Given the description of an element on the screen output the (x, y) to click on. 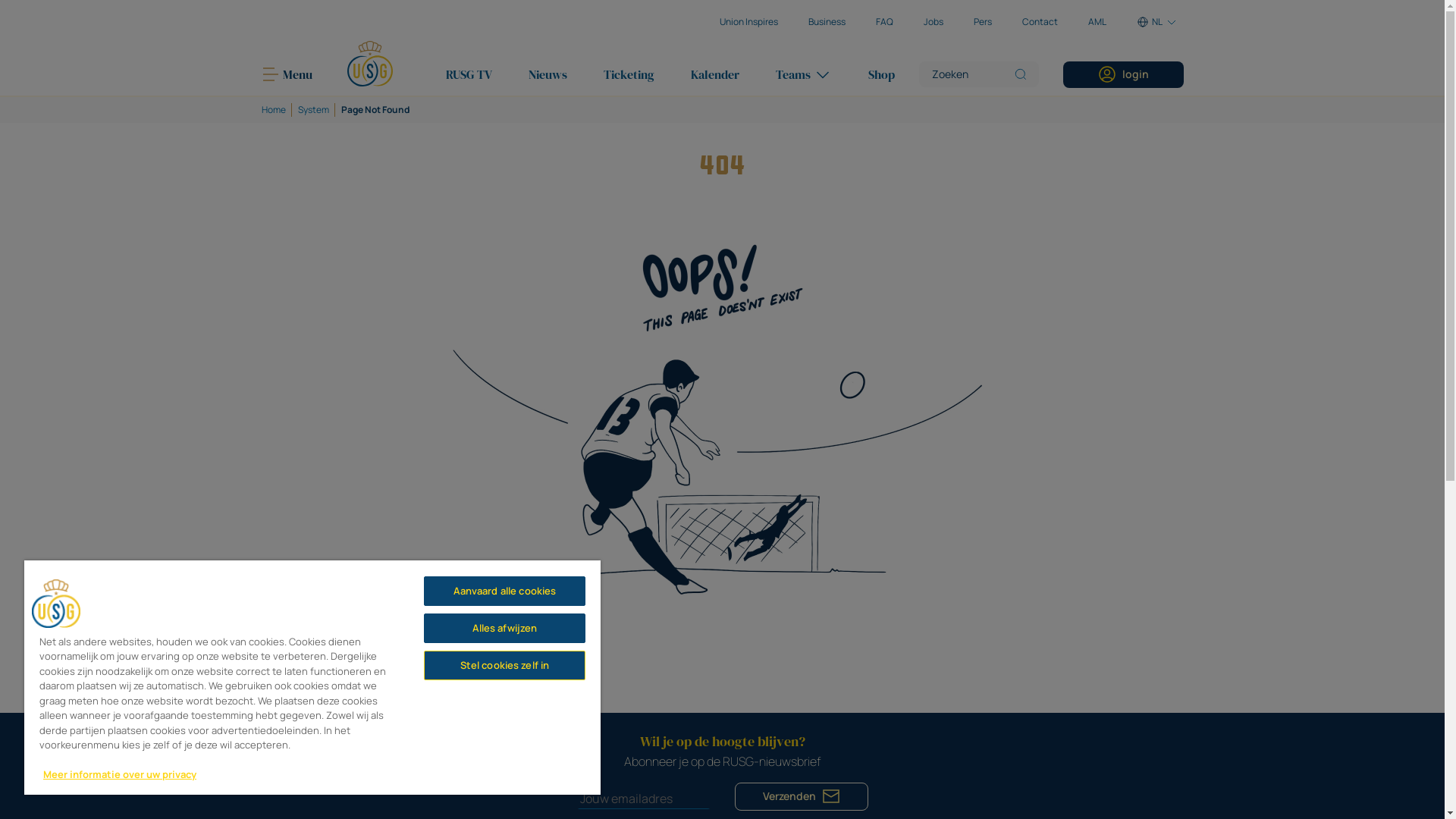
Page Not Found Element type: text (375, 109)
Alles afwijzen Element type: text (504, 628)
Kalender Element type: text (713, 74)
Verzenden Element type: text (800, 796)
Jobs Element type: text (933, 21)
Nieuws Element type: text (546, 74)
Meer informatie over uw privacy Element type: text (119, 774)
Home Element type: text (272, 109)
Ticketing Element type: text (628, 74)
Business Element type: text (826, 21)
Pers Element type: text (982, 21)
Teams Element type: text (802, 74)
FAQ Element type: text (883, 21)
Shop Element type: text (880, 74)
Aanvaard alle cookies Element type: text (504, 590)
Skip to main content Element type: text (0, 0)
Stel cookies zelf in Element type: text (504, 665)
AML Element type: text (1096, 21)
RUSG TV Element type: text (468, 74)
Union Inspires Element type: text (747, 21)
System Element type: text (312, 109)
login Element type: text (1123, 73)
Bedrijfslogo Element type: hover (55, 603)
Contact Element type: text (1039, 21)
